Given the description of an element on the screen output the (x, y) to click on. 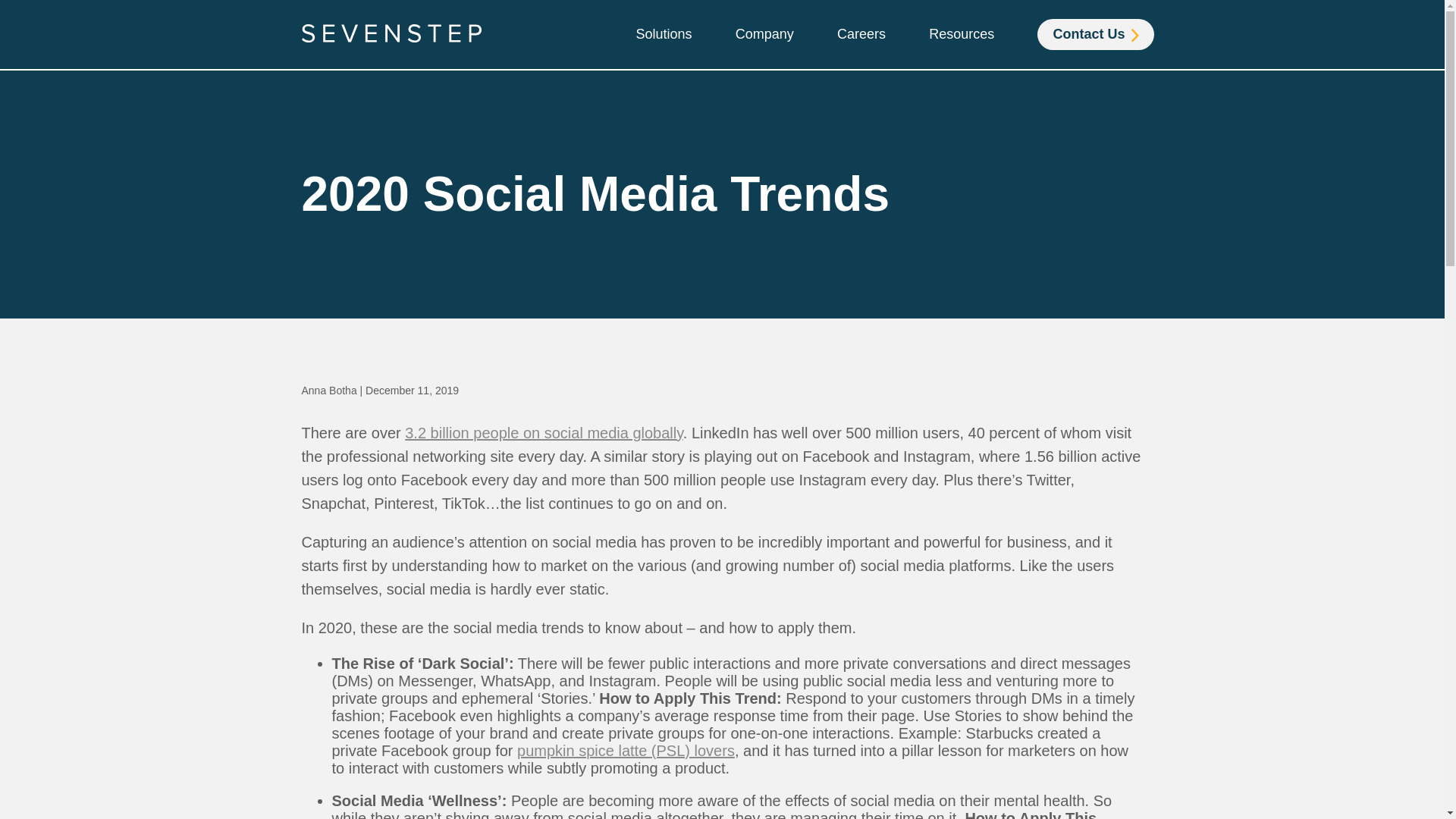
Careers (861, 34)
Solutions (662, 34)
Resources (961, 34)
Contact Us (1095, 33)
Company (764, 34)
